Given the description of an element on the screen output the (x, y) to click on. 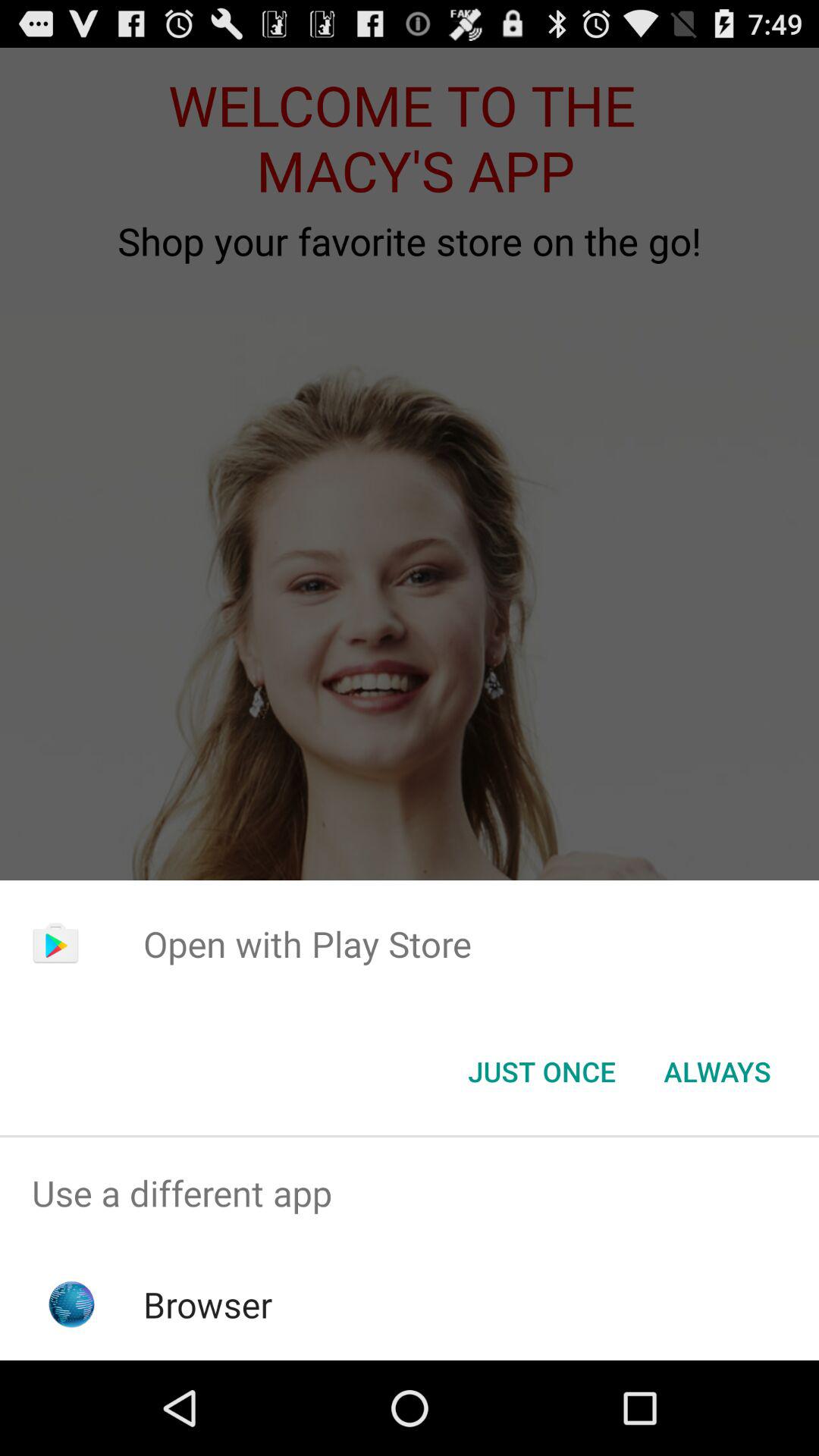
tap the always item (717, 1071)
